Given the description of an element on the screen output the (x, y) to click on. 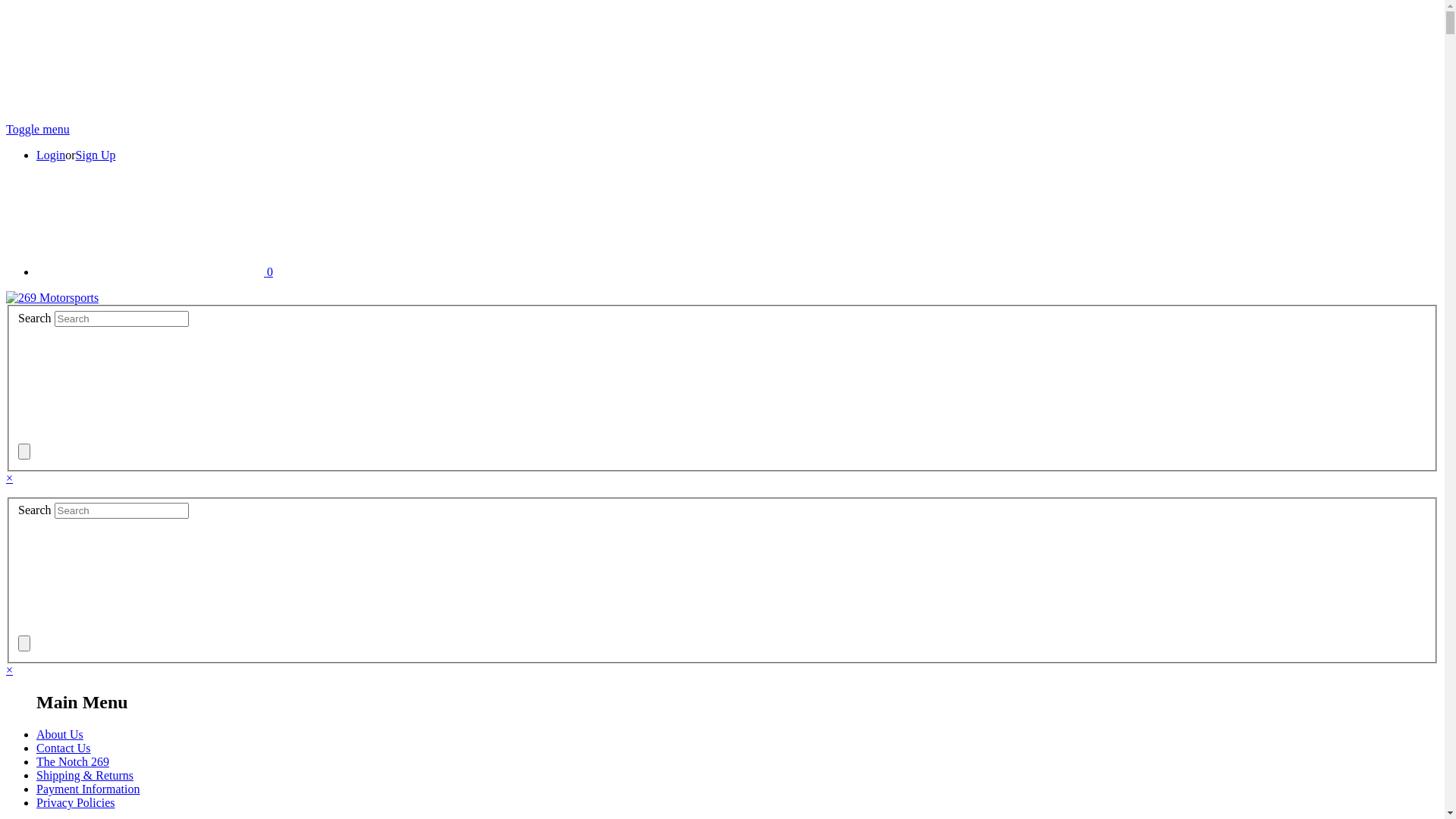
Contact Us Element type: text (63, 747)
Toggle menu Element type: text (37, 128)
0 Element type: text (154, 271)
The Notch 269 Element type: text (72, 761)
Privacy Policies Element type: text (75, 802)
269 Motorsports Element type: hover (52, 297)
Login Element type: text (50, 154)
Shipping & Returns Element type: text (84, 774)
submit Element type: hover (131, 383)
Payment Information Element type: text (87, 788)
submit Element type: hover (131, 575)
Sign Up Element type: text (95, 154)
About Us Element type: text (59, 734)
